Given the description of an element on the screen output the (x, y) to click on. 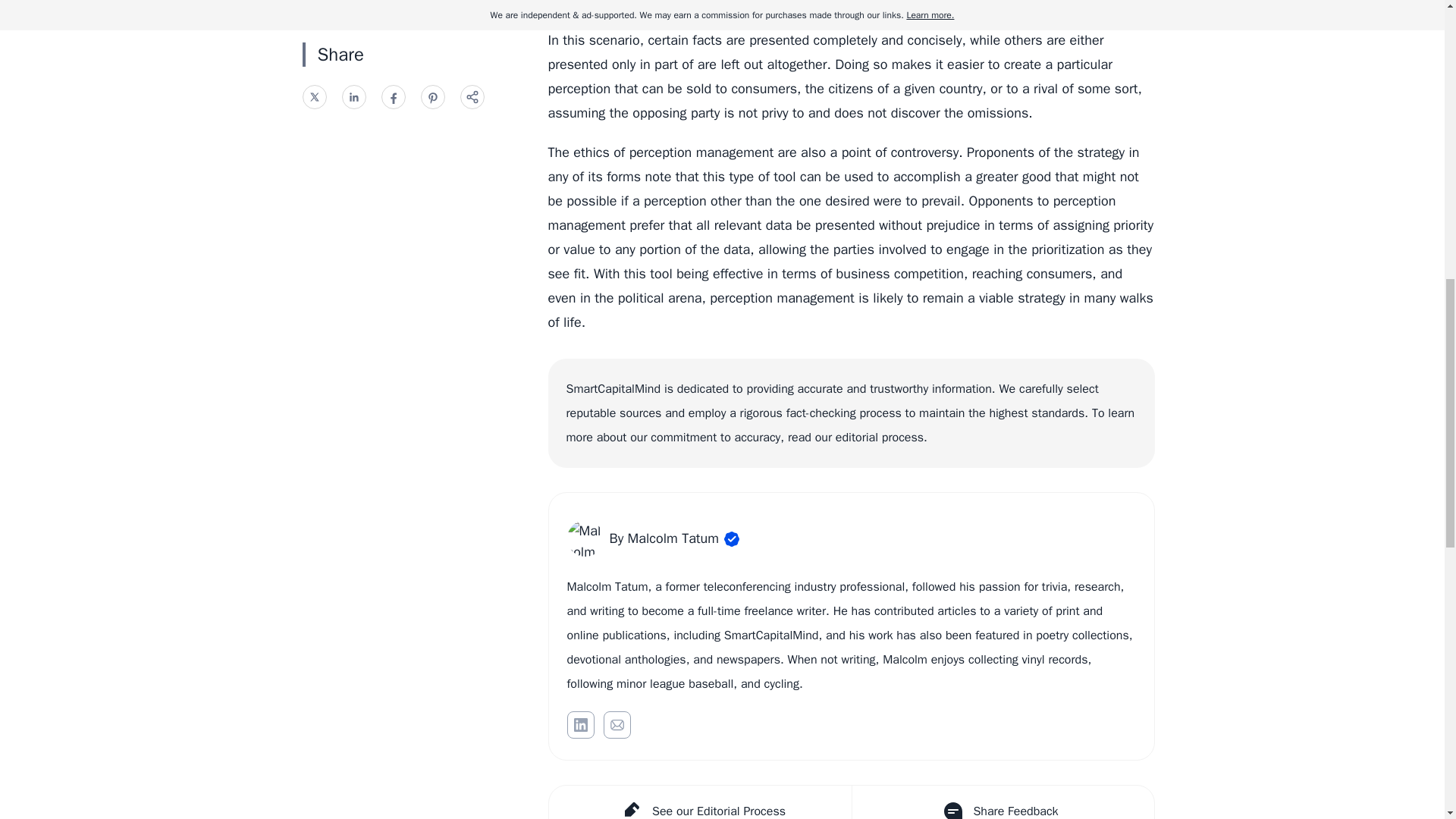
See our Editorial Process (699, 802)
Share Feedback (1001, 802)
